Given the description of an element on the screen output the (x, y) to click on. 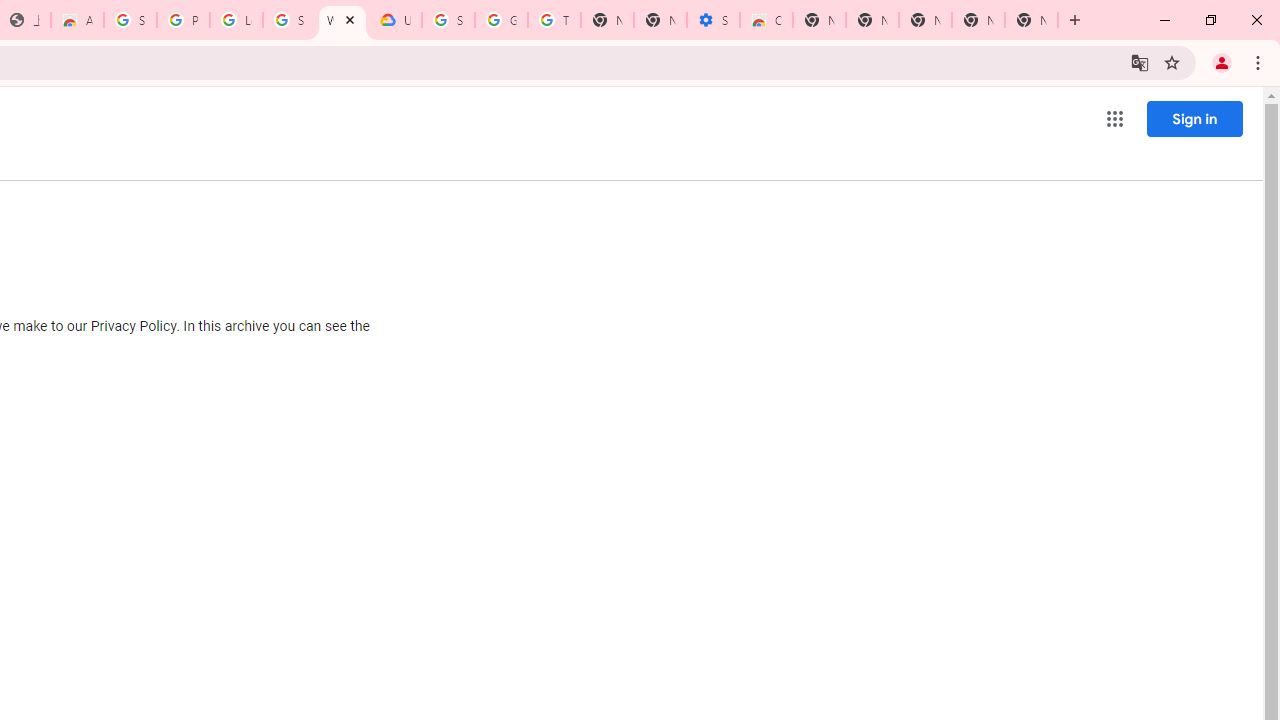
Sign in - Google Accounts (130, 20)
Settings - Accessibility (713, 20)
Who are Google's partners? - Privacy and conditions - Google (342, 20)
New Tab (925, 20)
